Given the description of an element on the screen output the (x, y) to click on. 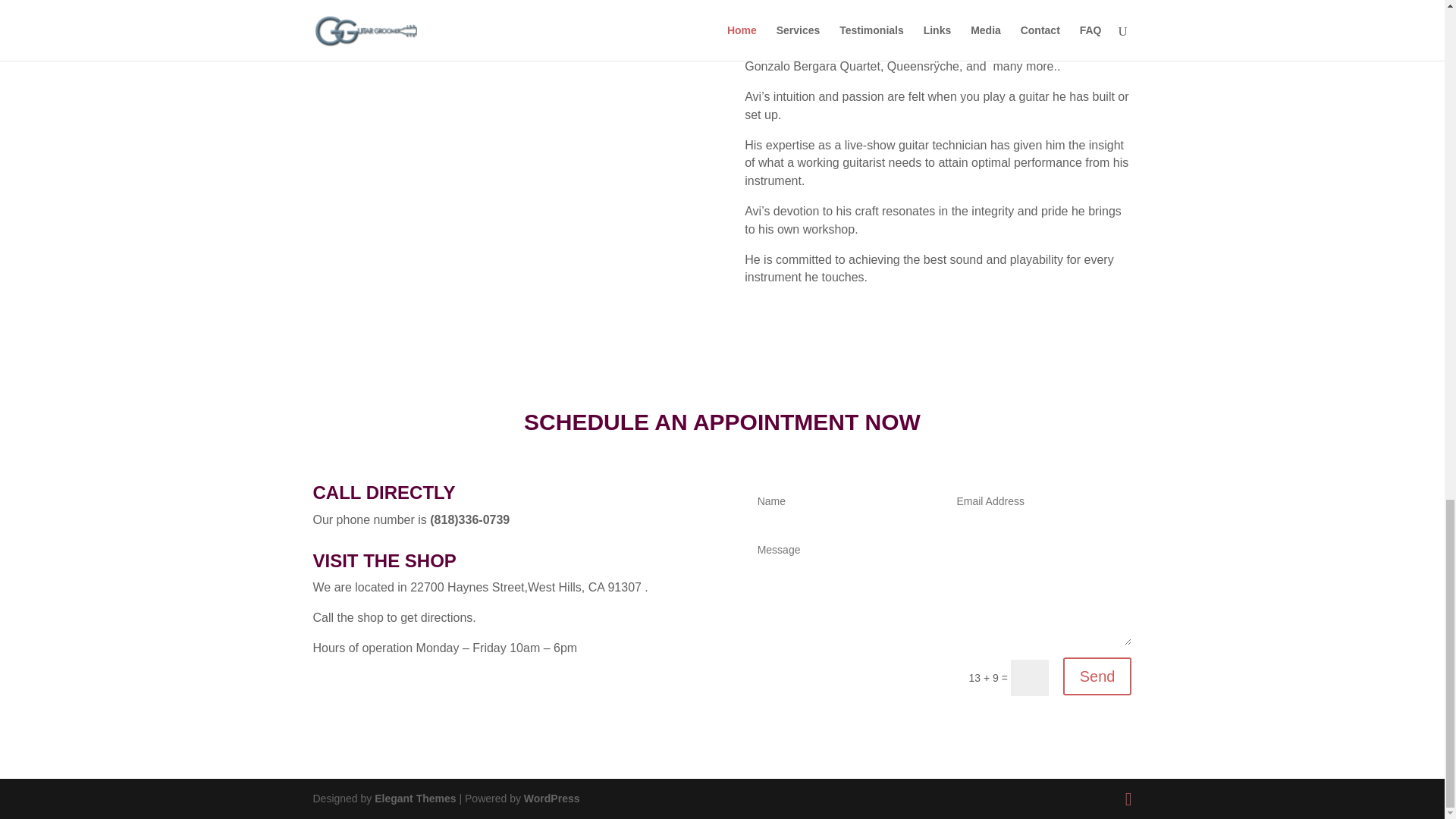
Elegant Themes (414, 798)
Send (1097, 676)
WordPress (551, 798)
Premium WordPress Themes (414, 798)
